Given the description of an element on the screen output the (x, y) to click on. 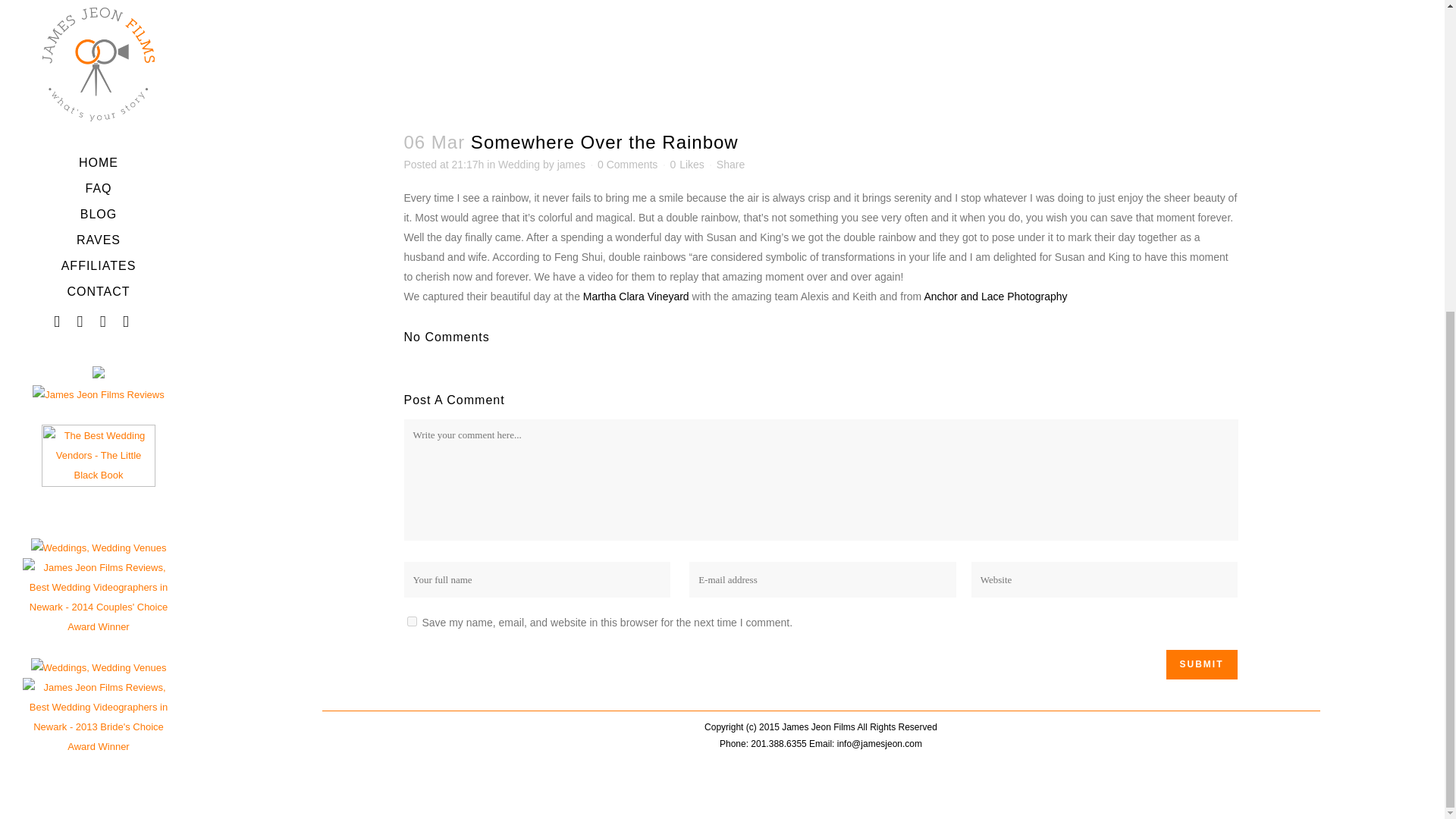
Submit (1200, 663)
The Best Wedding Vendors - The Little Black Book (98, 21)
Martha Clara Vineyard (635, 296)
Like this (686, 163)
Weddings, Wedding Venues (98, 172)
james (571, 164)
0 Likes (98, 161)
0 Comments (686, 163)
Wedding (627, 164)
yes (518, 164)
Share (411, 621)
Weddings, Wedding Venues (730, 164)
